Given the description of an element on the screen output the (x, y) to click on. 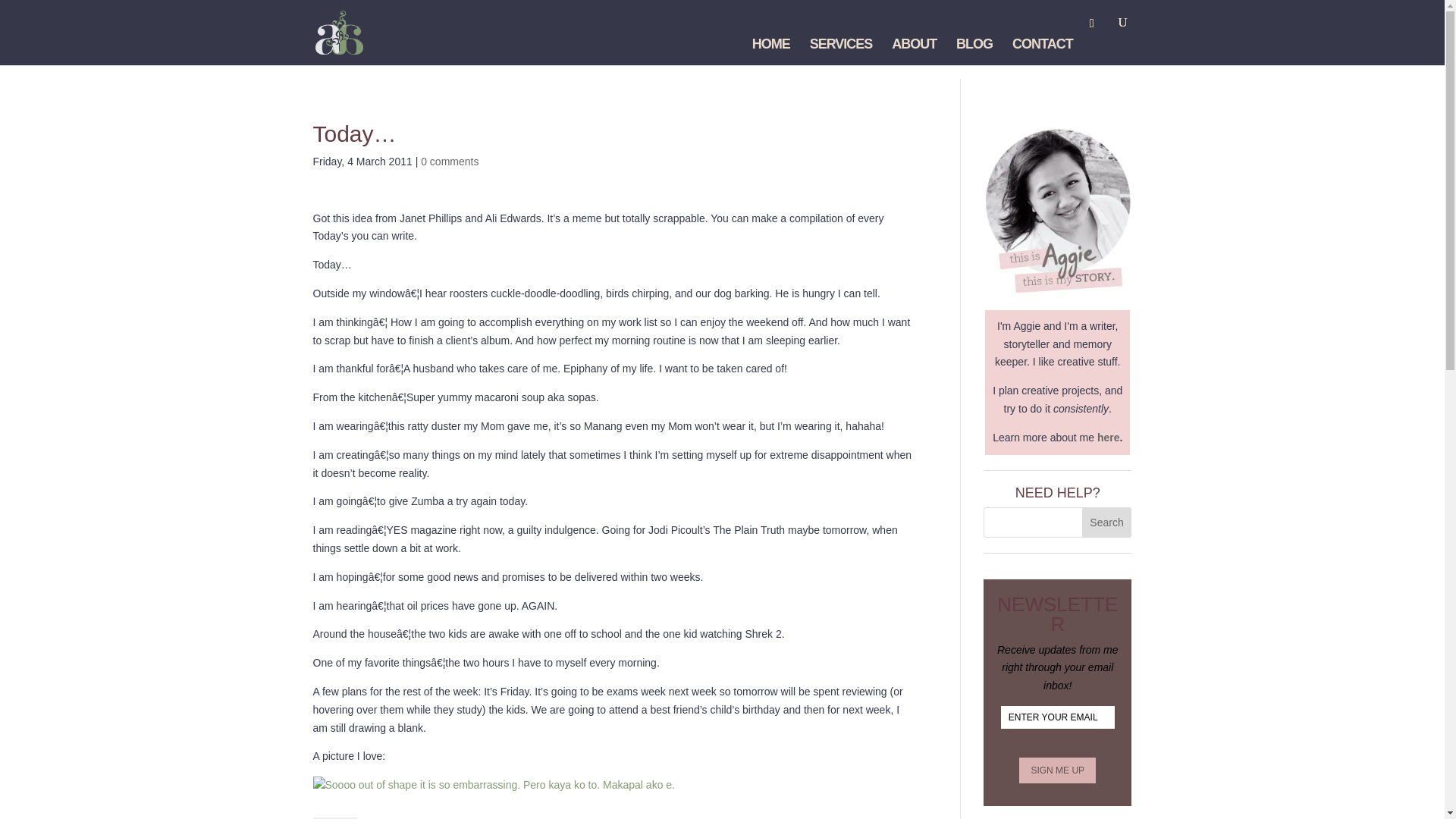
BLOG (974, 51)
here (1108, 437)
Author (334, 818)
ABOUT (913, 51)
Recent Posts (395, 818)
HOME (771, 51)
Search (1106, 521)
Search (1106, 521)
SIGN ME UP (1057, 769)
SERVICES (840, 51)
